Given the description of an element on the screen output the (x, y) to click on. 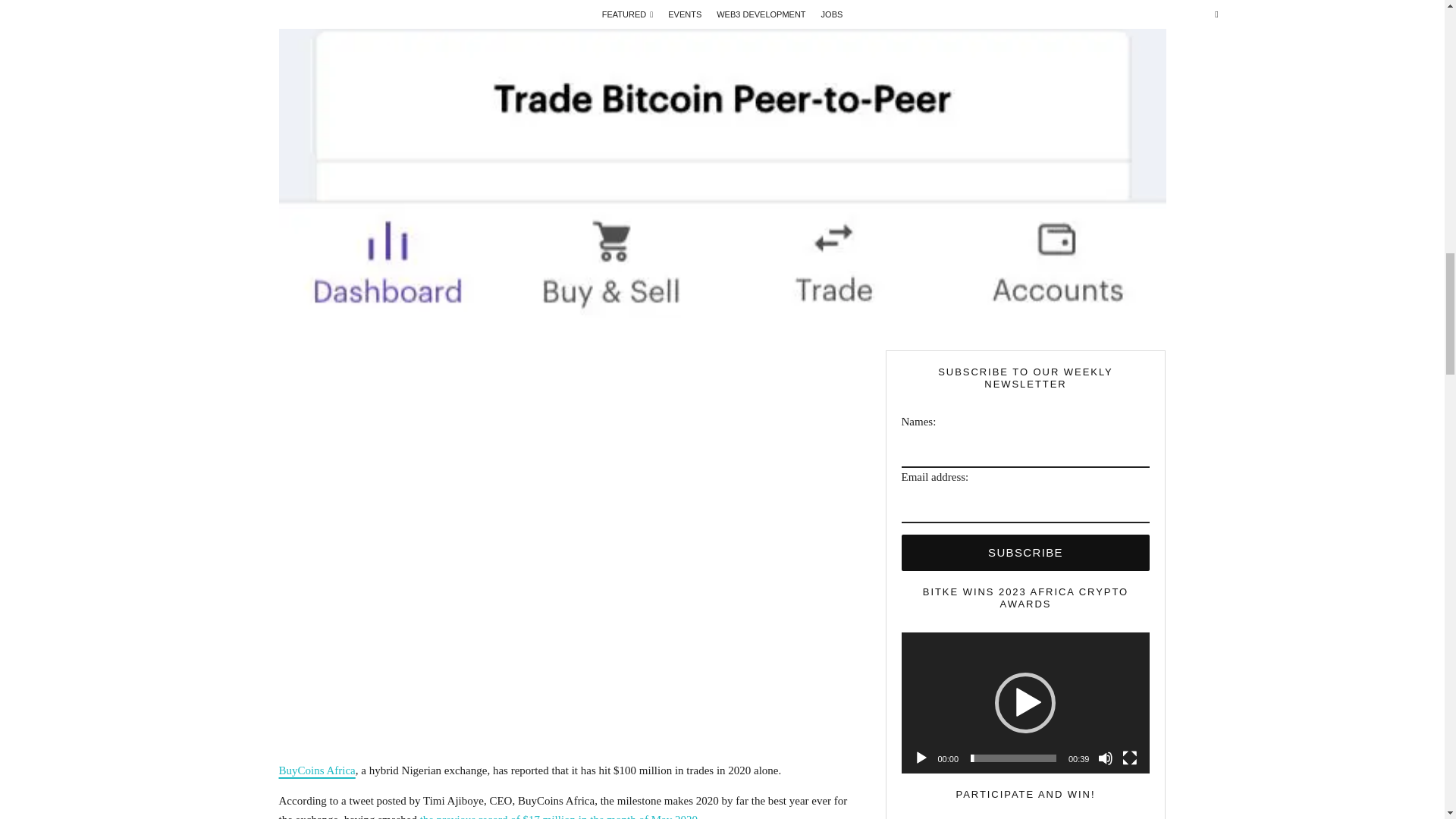
Mute (1105, 758)
Subscribe (1025, 552)
BuyCoins Africa (317, 770)
Play (920, 758)
Fullscreen (1129, 758)
